Given the description of an element on the screen output the (x, y) to click on. 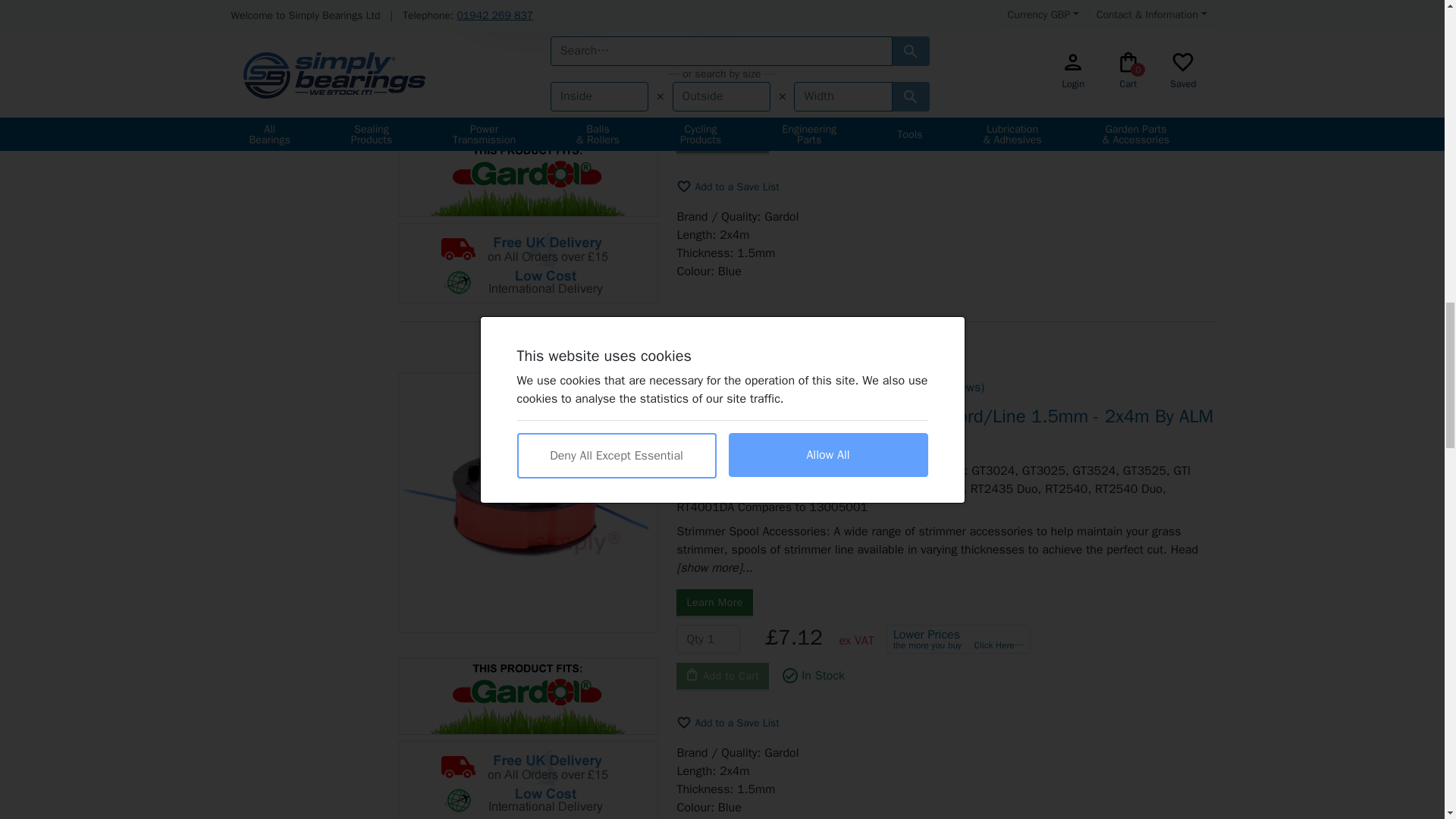
Click for more information (527, 178)
Click for more information (527, 695)
